Given the description of an element on the screen output the (x, y) to click on. 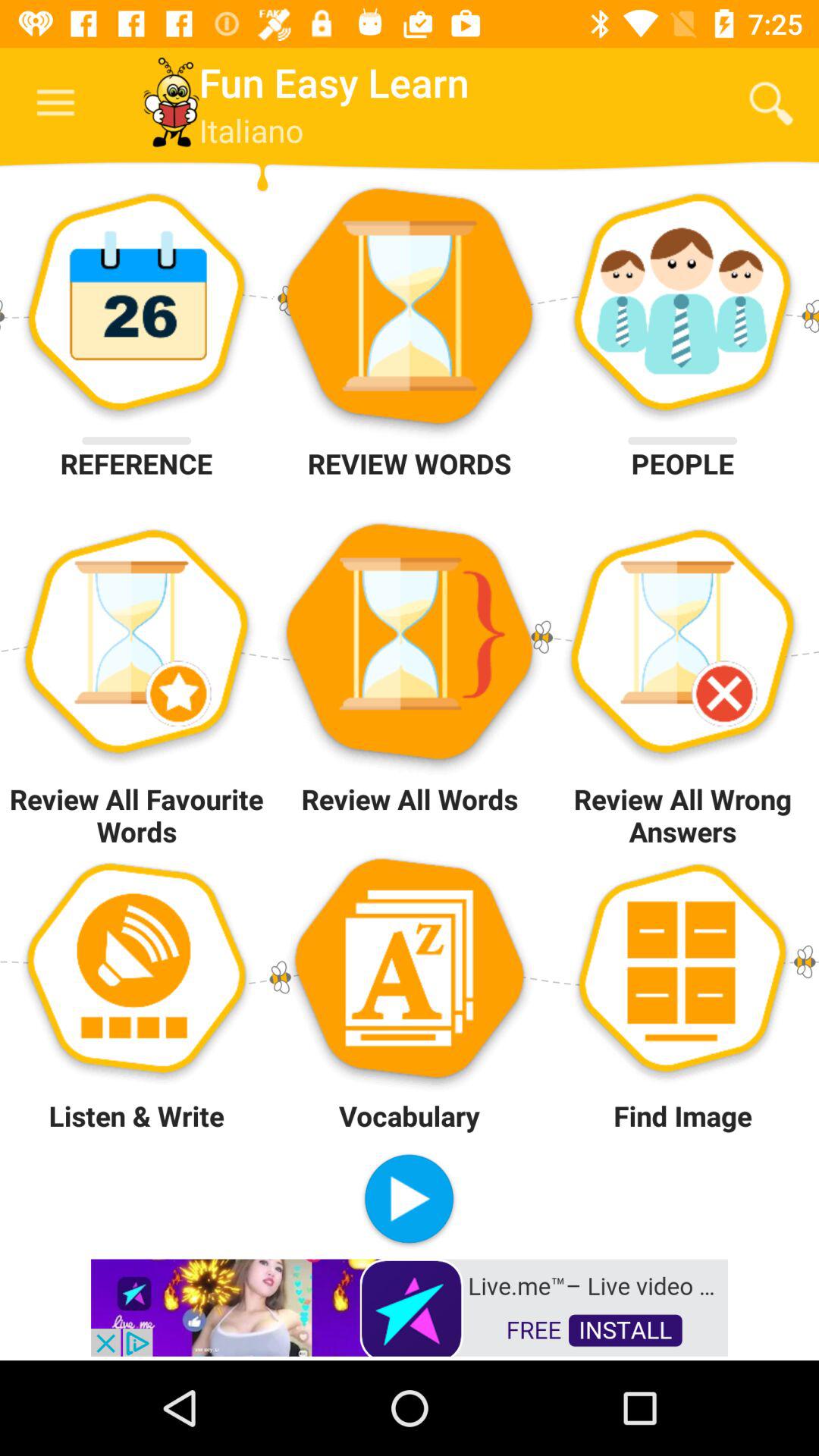
play lesson (408, 1200)
